Given the description of an element on the screen output the (x, y) to click on. 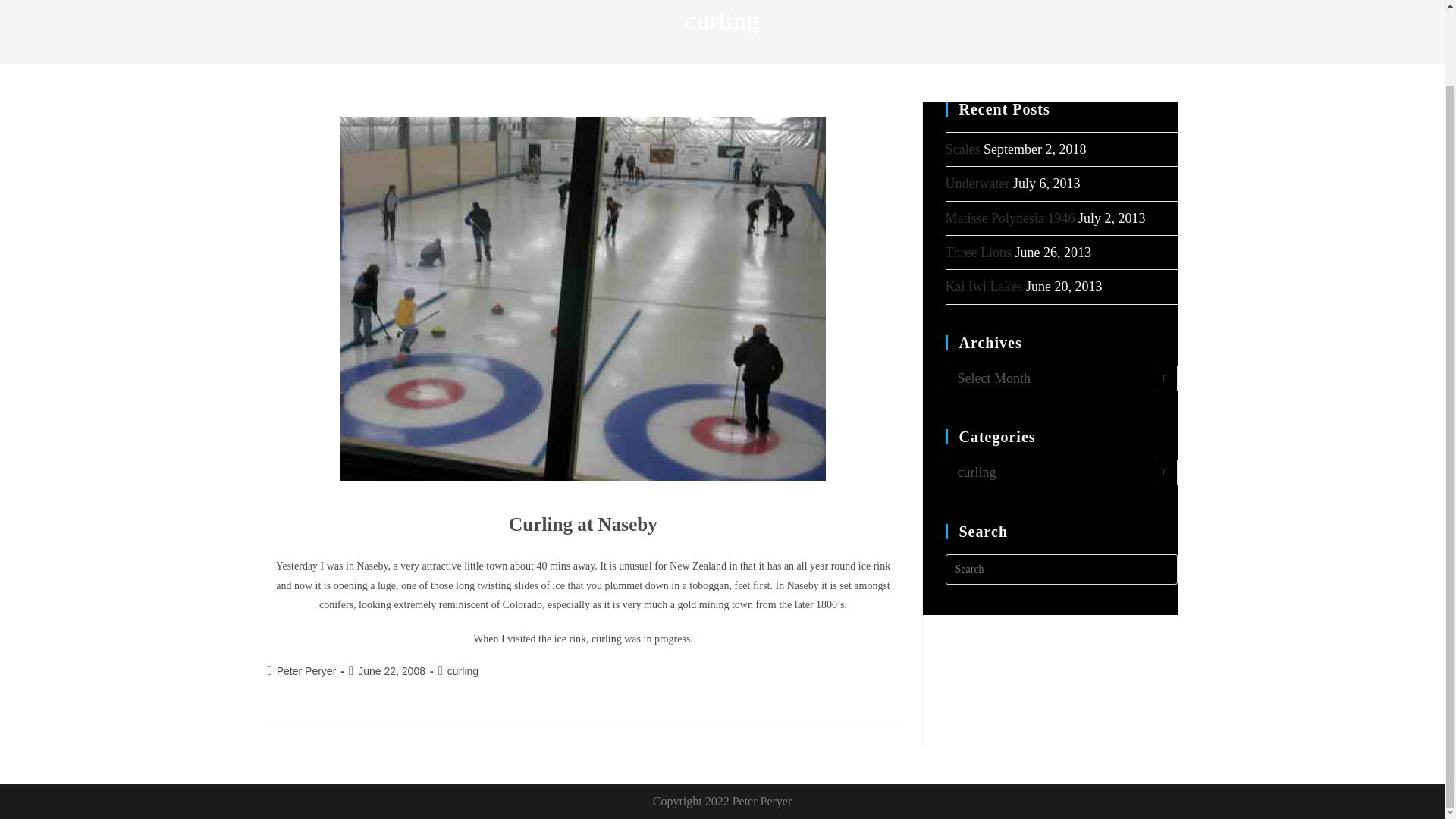
Scales (961, 149)
Peter Peryer (306, 671)
Posts by Peter Peryer (306, 671)
Underwater (976, 183)
curling (462, 671)
curling (606, 638)
